Given the description of an element on the screen output the (x, y) to click on. 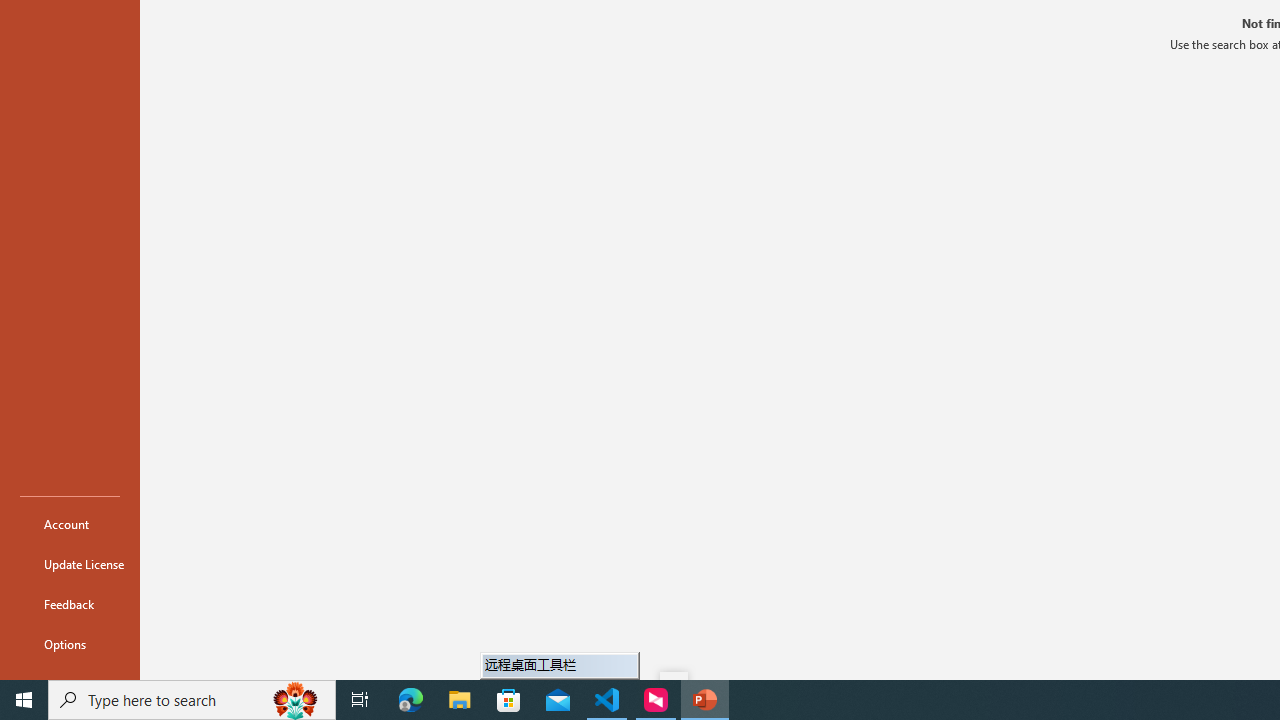
Options (69, 643)
Account (69, 523)
Feedback (69, 603)
Update License (69, 563)
